Given the description of an element on the screen output the (x, y) to click on. 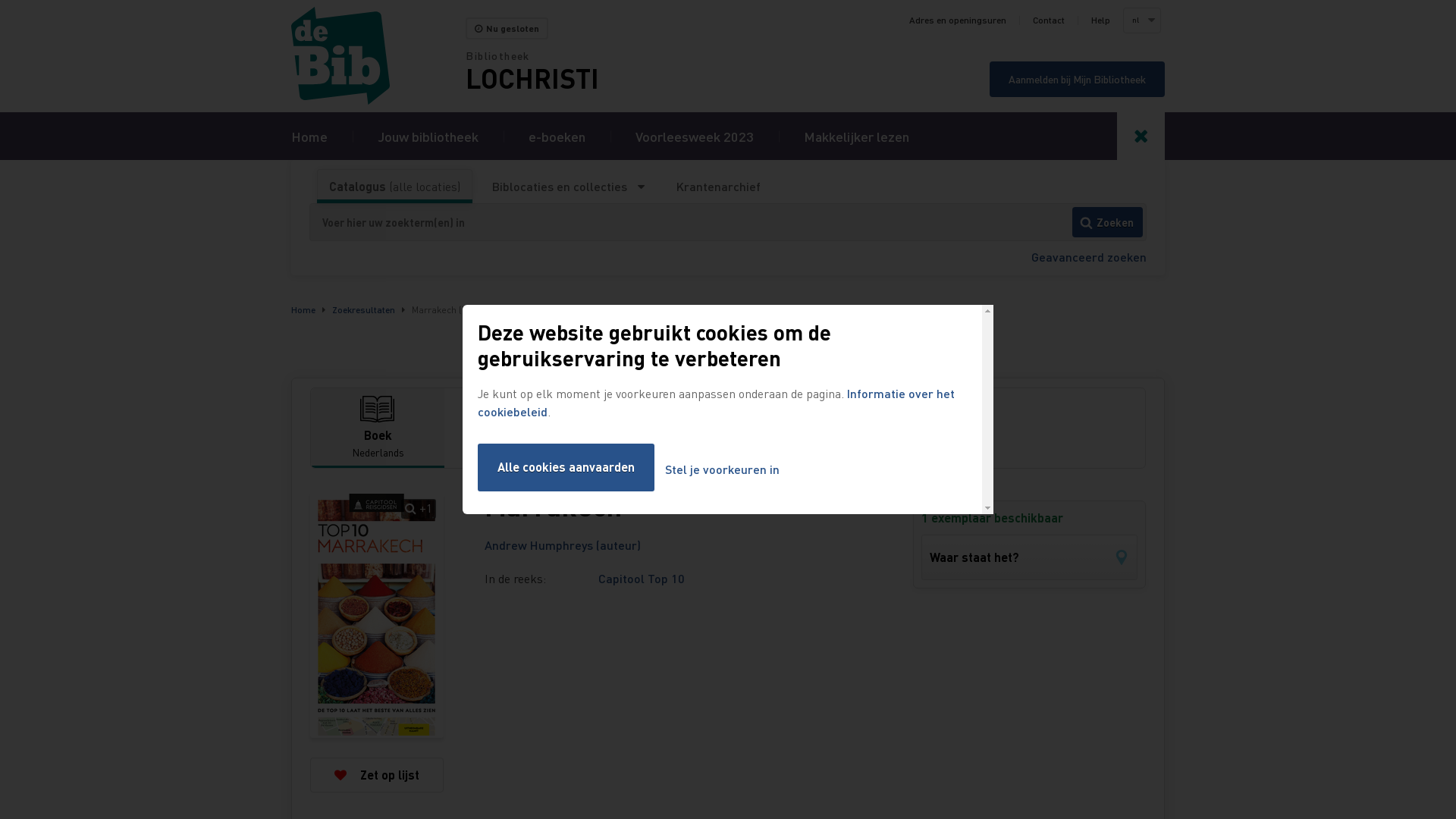
nl Element type: text (1140, 20)
Home Element type: text (303, 309)
Aanmelden bij Mijn Bibliotheek Element type: text (1076, 79)
Catalogus (alle locaties) Element type: text (394, 186)
Alle cookies aanvaarden Element type: text (565, 466)
Home Element type: text (309, 136)
Zet op lijst Element type: text (376, 774)
Waar staat het? Element type: text (1029, 557)
Stel je voorkeuren in Element type: text (722, 469)
Informatie over het cookiebeleid Element type: text (715, 402)
e-boeken Element type: text (556, 136)
Contact Element type: text (1048, 20)
Voorleesweek 2023 Element type: text (694, 136)
Jouw bibliotheek Element type: text (427, 136)
Andrew Humphreys (auteur) Element type: text (562, 544)
Zoeken Element type: text (1107, 222)
Biblocaties en collecties Element type: text (567, 186)
Zoekresultaten Element type: text (363, 309)
Capitool Top 10 Element type: text (641, 578)
Adres en openingsuren Element type: text (957, 20)
Overslaan en naar zoeken gaan Element type: text (0, 0)
Geavanceerd zoeken Element type: text (1088, 256)
Home Element type: hover (378, 55)
Krantenarchief Element type: text (718, 186)
Toggle search Element type: hover (1140, 136)
Help Element type: text (1100, 20)
Nu gesloten Element type: text (506, 28)
Makkelijker lezen Element type: text (856, 136)
